Given the description of an element on the screen output the (x, y) to click on. 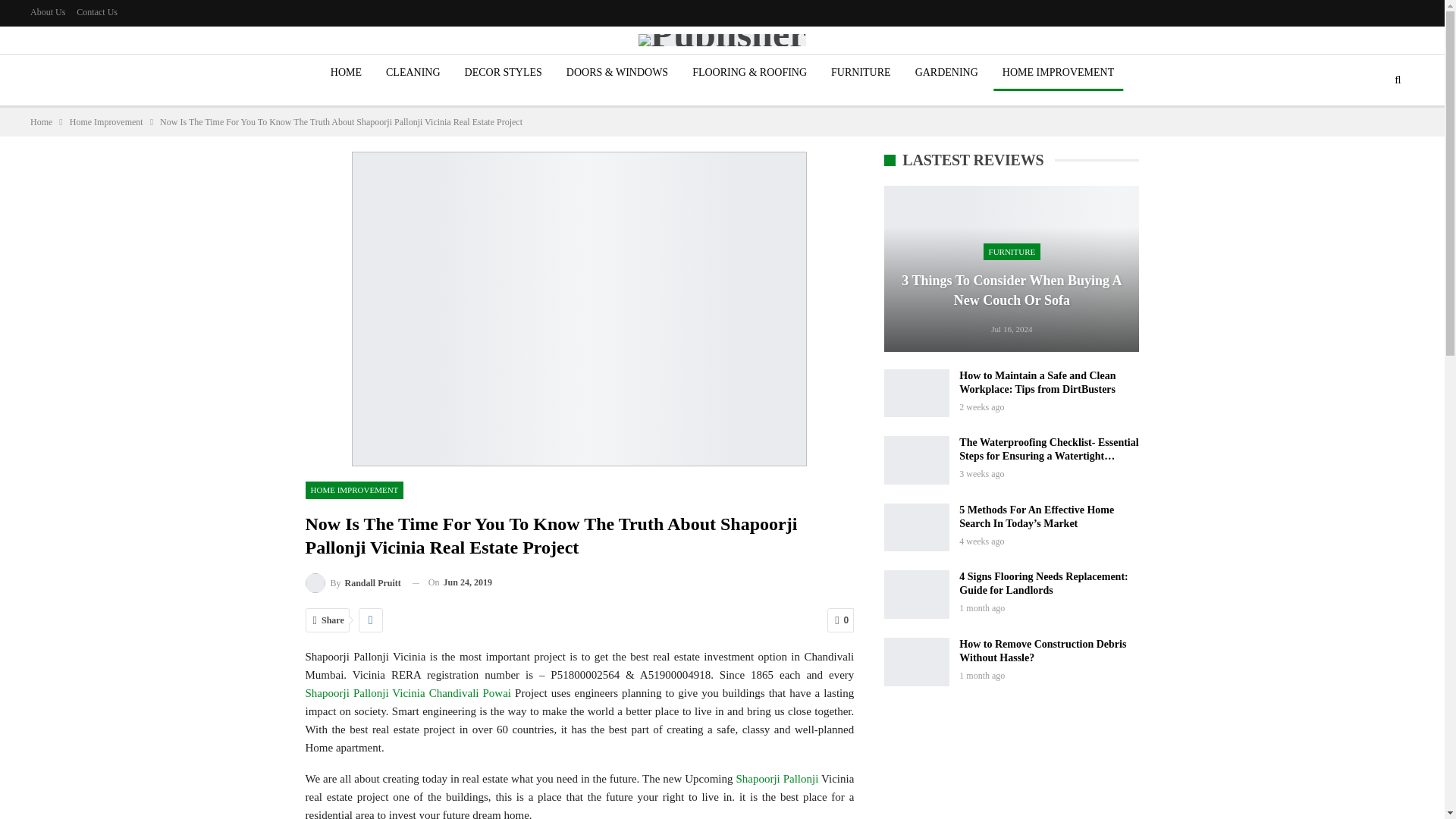
CLEANING (413, 72)
Home Improvement (105, 121)
0 (840, 620)
Shapoorji Pallonji (776, 778)
Shapoorji Pallonji Vicinia Chandivali Powai (407, 693)
GARDENING (946, 72)
DECOR STYLES (503, 72)
Browse Author Articles (352, 582)
HOME (346, 72)
HOME IMPROVEMENT (1057, 72)
FURNITURE (860, 72)
About Us (47, 11)
Contact Us (97, 11)
HOME IMPROVEMENT (353, 489)
By Randall Pruitt (352, 582)
